Given the description of an element on the screen output the (x, y) to click on. 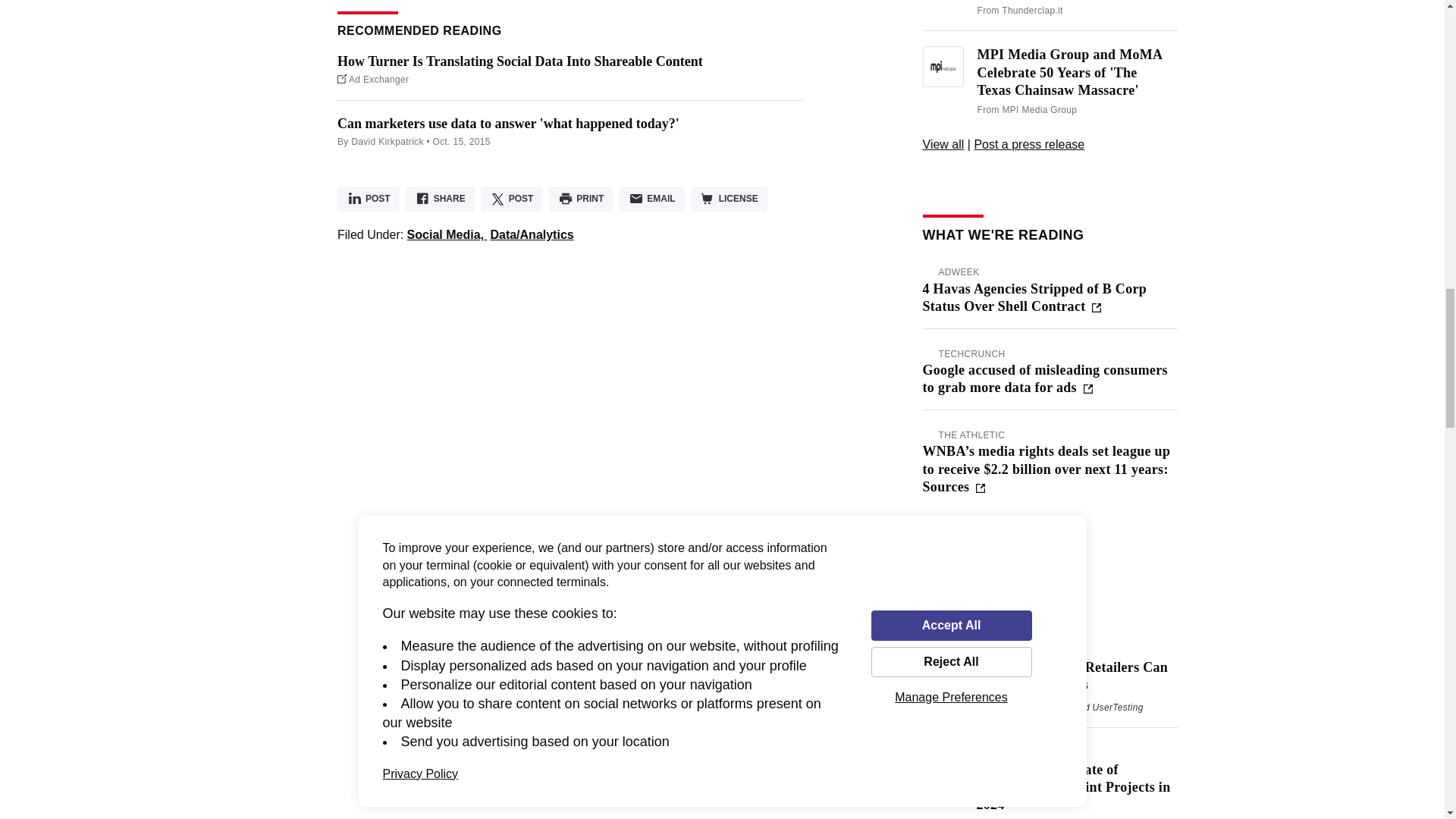
How Turner Is Translating Social Data Into Shareable Content (520, 61)
